Given the description of an element on the screen output the (x, y) to click on. 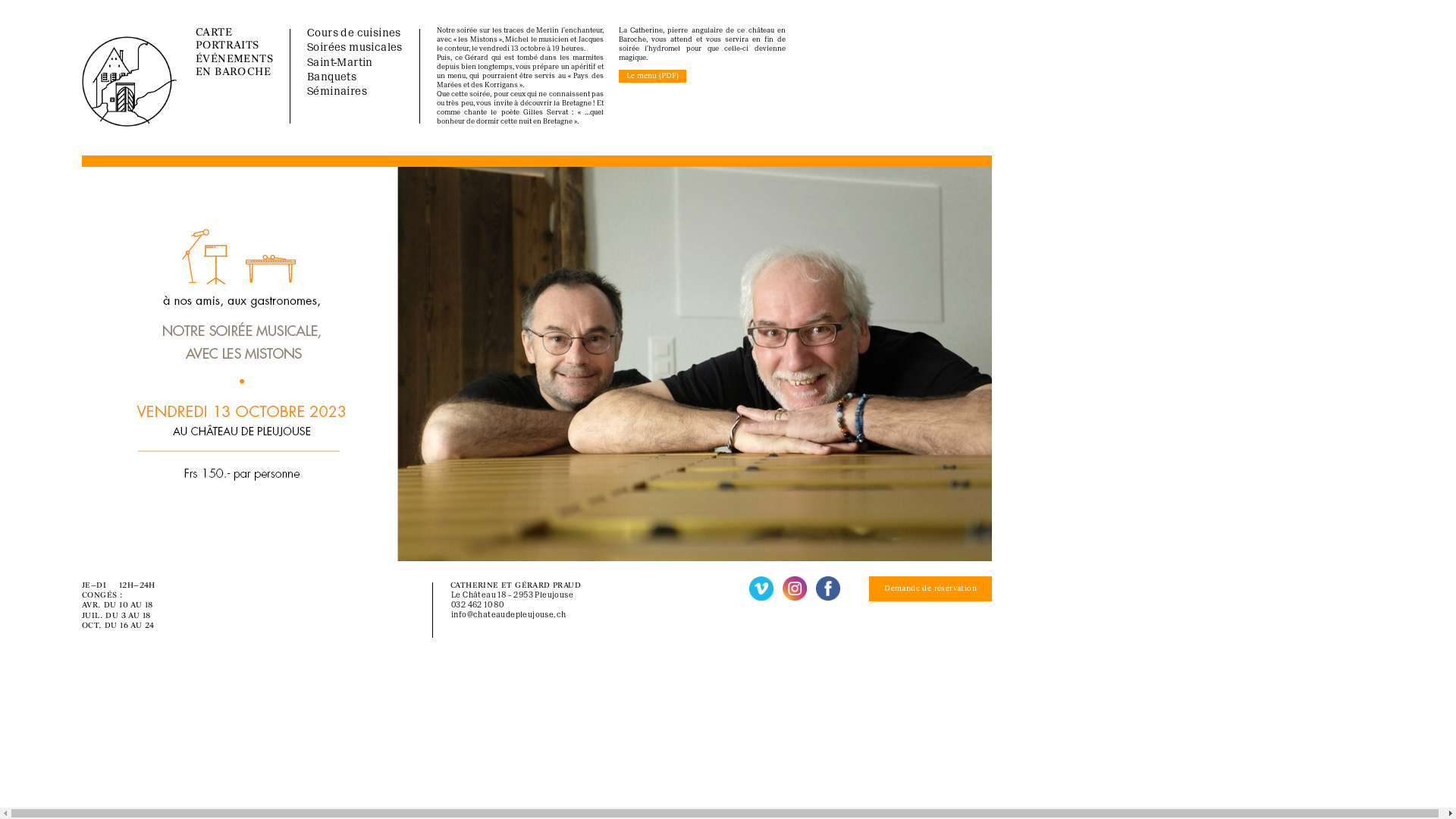
Vimeo Element type: hover (761, 588)
Facebook Element type: hover (827, 588)
Banquets Element type: text (331, 77)
Cours de cuisines Element type: text (354, 33)
Le menu (PDF) Element type: text (652, 75)
PORTRAITS Element type: text (227, 45)
CARTE Element type: text (213, 32)
Saint-Martin Element type: text (340, 63)
info@chateaudepleujouse.ch Element type: text (508, 615)
EN BAROCHE Element type: text (232, 72)
Instagram Element type: hover (794, 588)
